Given the description of an element on the screen output the (x, y) to click on. 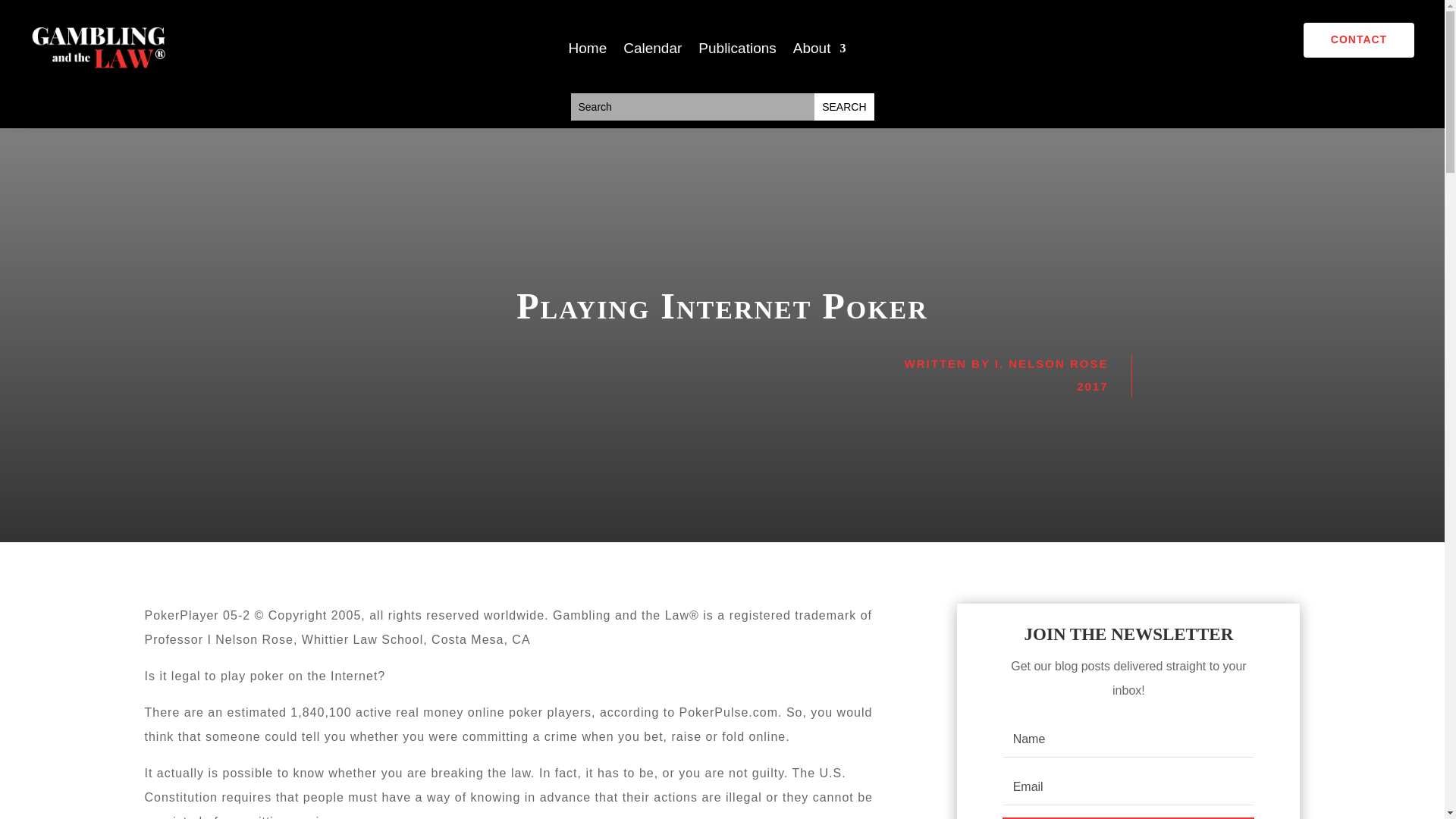
Search (843, 105)
I. NELSON ROSE (1051, 363)
Calendar (652, 51)
Home (588, 51)
About (819, 51)
Search (843, 105)
GAMBLING and the LAW (106, 46)
CONTACT (1358, 39)
Search (843, 105)
Publications (737, 51)
